Given the description of an element on the screen output the (x, y) to click on. 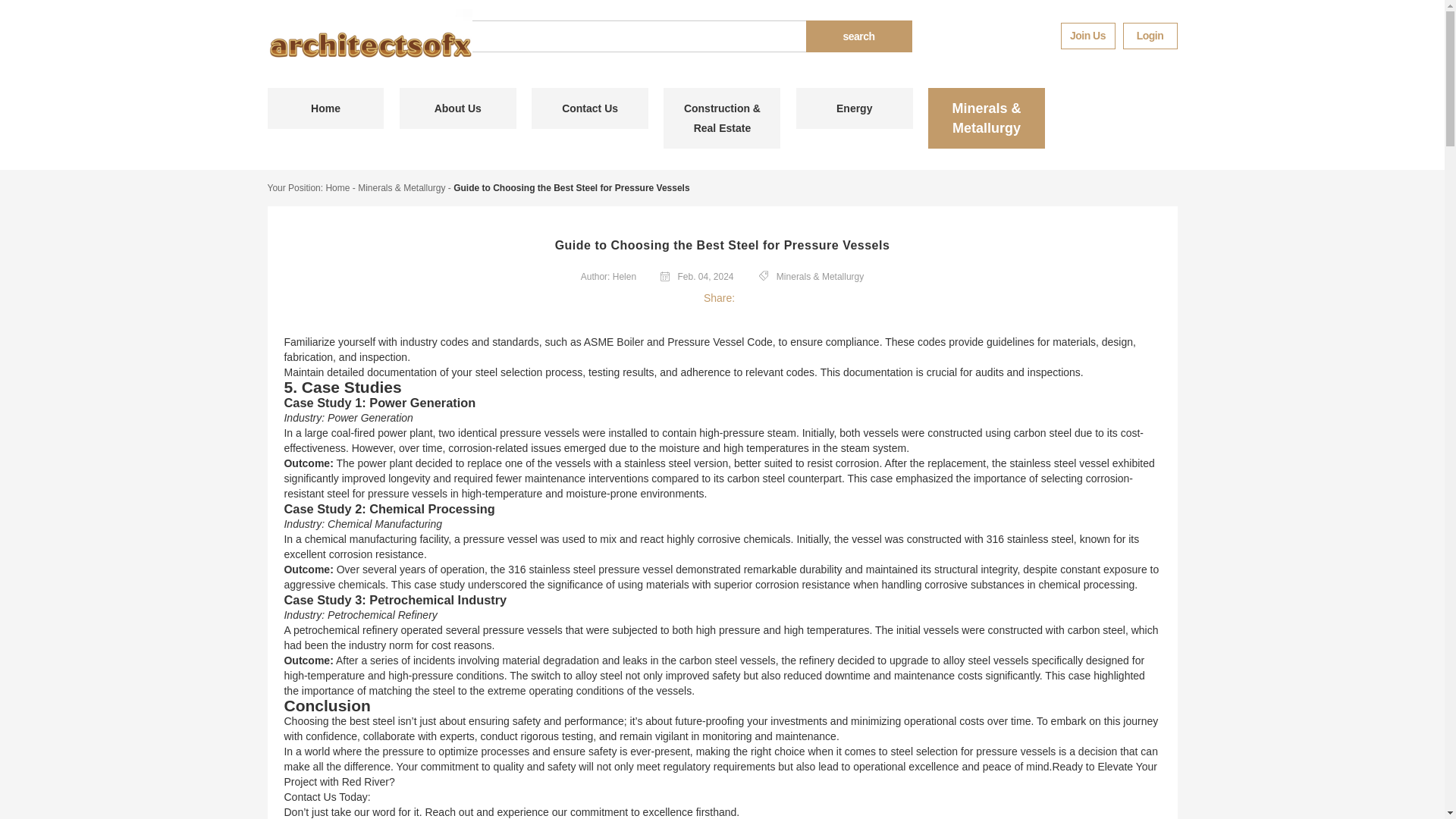
Home (325, 107)
Login (1149, 35)
Contact Us (589, 107)
Home (325, 107)
search (858, 36)
About Us (457, 107)
search (858, 36)
About Us (457, 107)
Join Us (1087, 35)
Author: Helen (608, 276)
Architectsofx Guest Blogging Platform (368, 42)
Energy (854, 107)
Guide to Choosing the Best Steel for Pressure Vessels (570, 187)
Contact Us (589, 107)
Join Us (1087, 35)
